Given the description of an element on the screen output the (x, y) to click on. 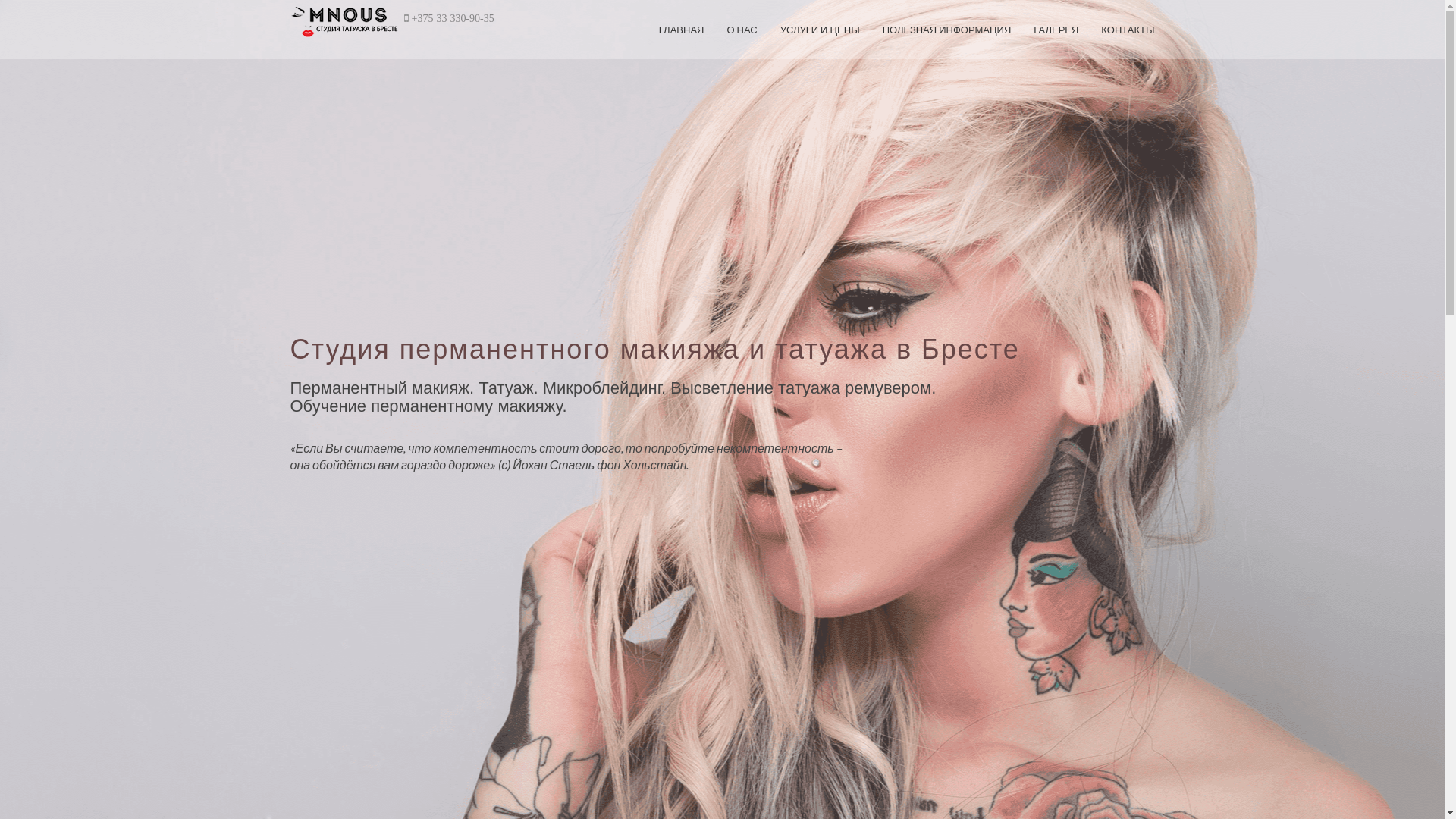
+375 33 330-90-35 Element type: text (452, 17)
